Given the description of an element on the screen output the (x, y) to click on. 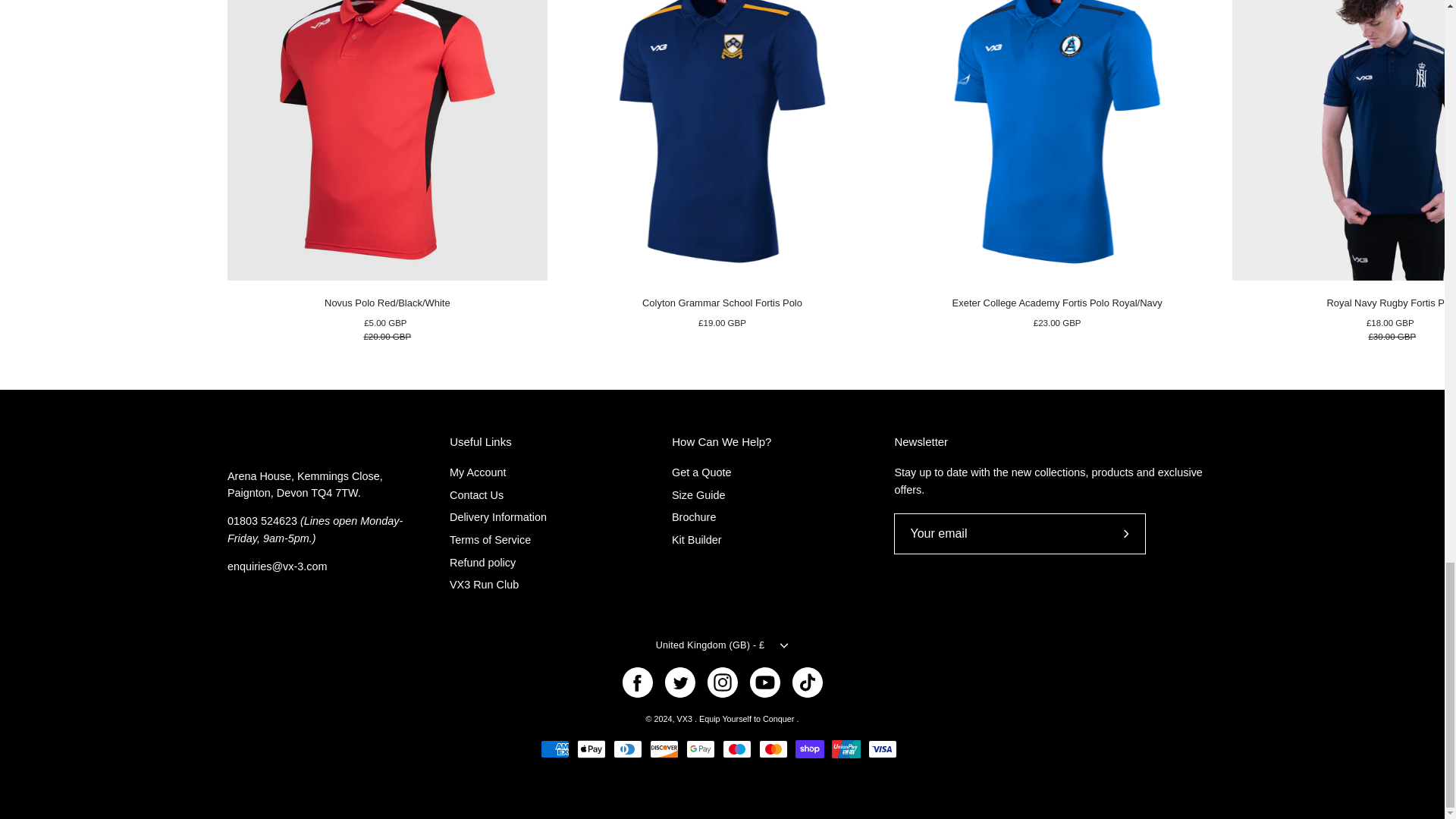
View VX3  on Twitter (678, 682)
View VX3  on Facebook (636, 682)
